Given the description of an element on the screen output the (x, y) to click on. 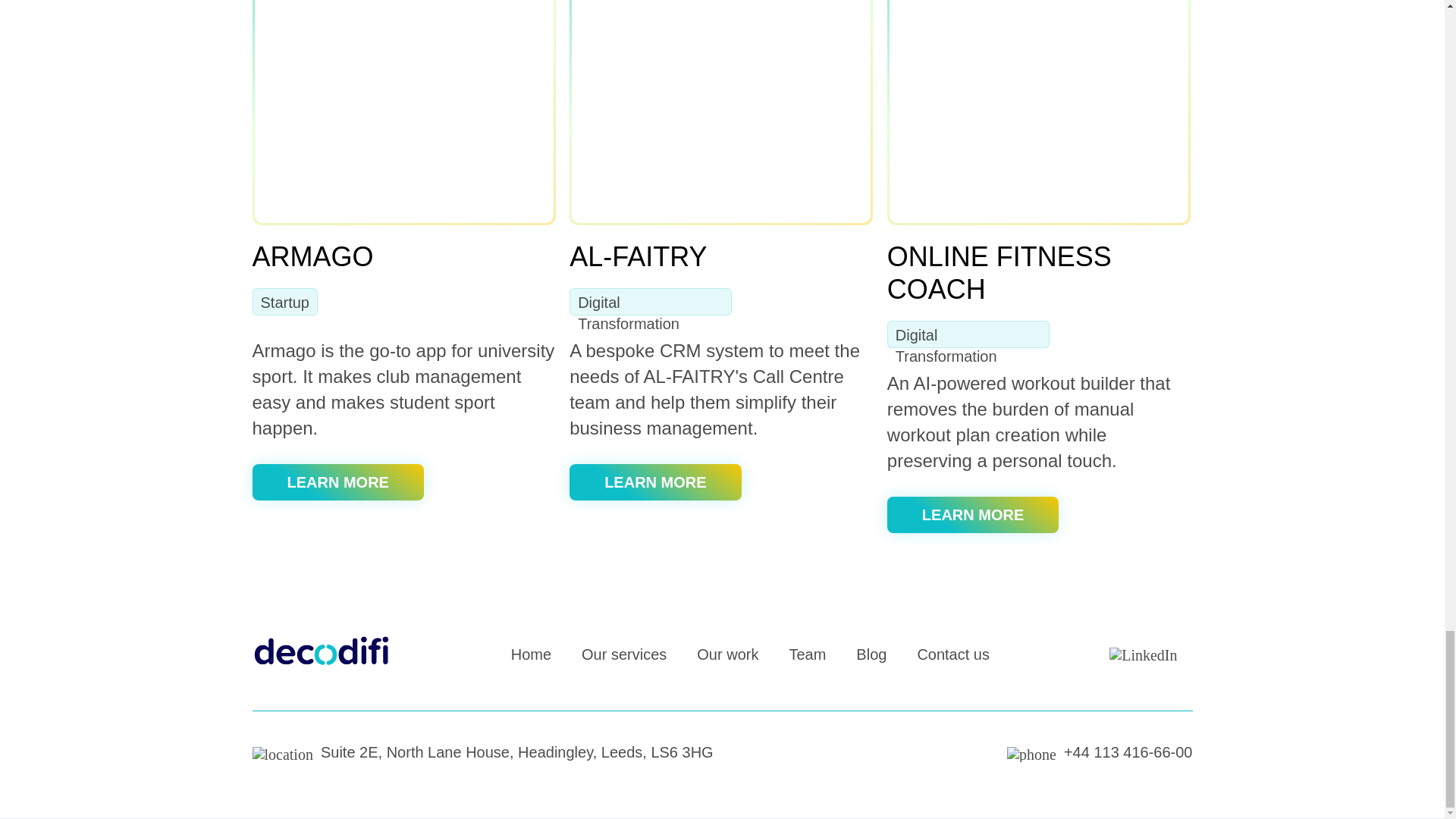
Our work (727, 654)
LEARN MORE (655, 482)
Home (531, 654)
Contact us (953, 654)
Suite 2E, North Lane House, Headingley, Leeds, LS6 3HG (482, 752)
LEARN MORE (337, 482)
LEARN MORE (972, 514)
Team (807, 654)
